Given the description of an element on the screen output the (x, y) to click on. 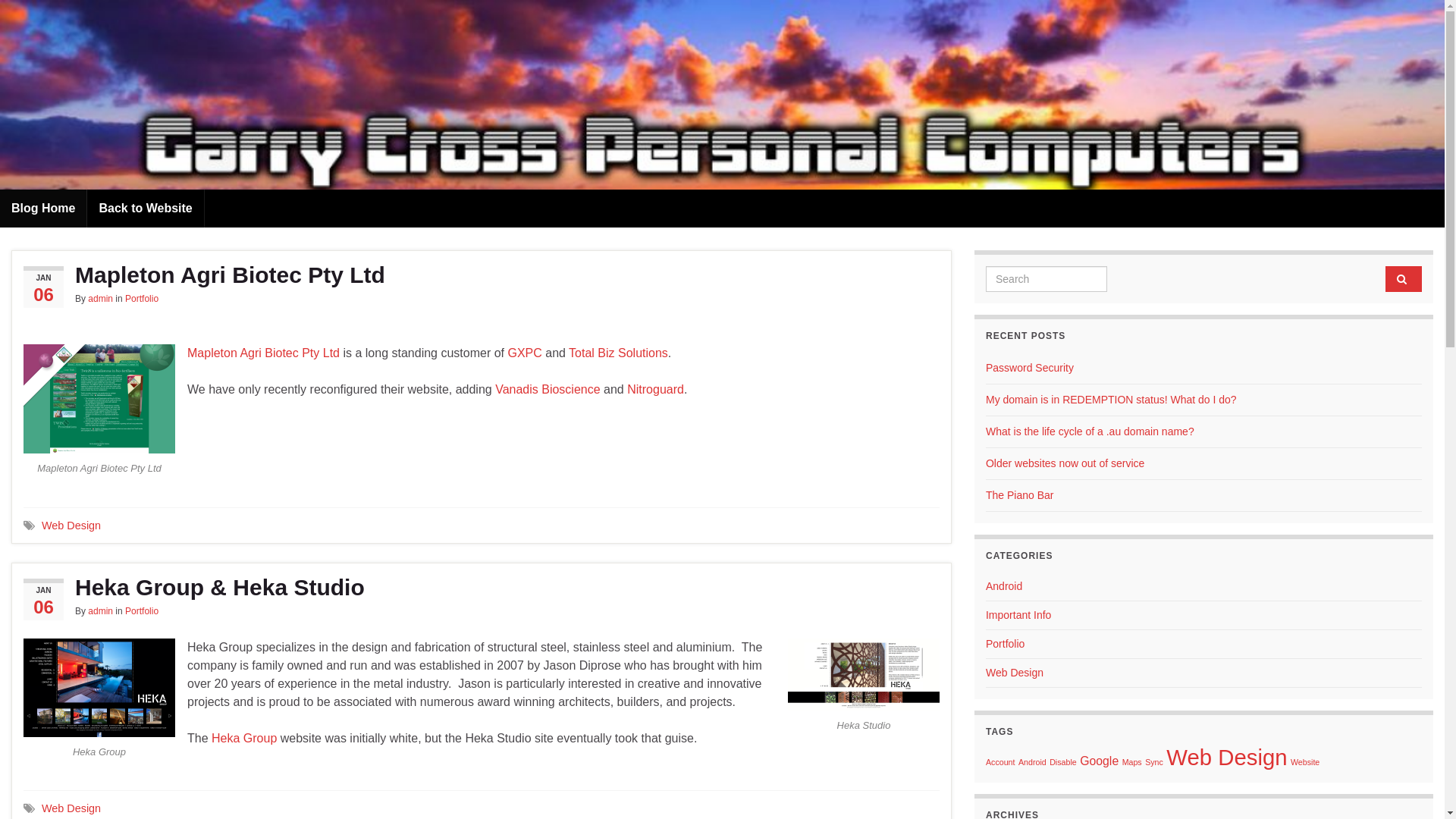
The Piano Bar Element type: text (1019, 495)
Android Element type: text (1003, 586)
Nitroguard Element type: text (655, 388)
Android Element type: text (1032, 761)
My domain is in REDEMPTION status! What do I do? Element type: text (1110, 399)
Tags Element type: hover (28, 525)
Portfolio Element type: text (141, 298)
Disable Element type: text (1062, 761)
Total Biz Solutions Element type: text (618, 352)
Back to Website Element type: text (145, 208)
Tags Element type: hover (28, 808)
Older websites now out of service Element type: text (1064, 463)
Web Design Element type: text (70, 808)
Heka Group Element type: text (243, 737)
Website Element type: text (1304, 761)
Password Security Element type: text (1029, 367)
Portfolio Element type: text (141, 610)
Web Design Element type: text (1014, 672)
Web Design Element type: text (70, 524)
admin Element type: text (99, 298)
GXPC Blog Element type: hover (722, 154)
Mapleton Agri Biotec Pty Ltd Element type: text (481, 275)
admin Element type: text (99, 610)
Sync Element type: text (1154, 761)
Google Element type: text (1098, 760)
Account Element type: text (1000, 761)
Important Info Element type: text (1018, 614)
Maps Element type: text (1132, 761)
Vanadis Bioscience Element type: text (547, 388)
Web Design Element type: text (1226, 756)
GXPC Element type: text (524, 352)
Portfolio Element type: text (1004, 643)
What is the life cycle of a .au domain name? Element type: text (1089, 431)
Mapleton Agri Biotec Pty Ltd Element type: text (263, 352)
Heka Group & Heka Studio Element type: text (481, 587)
Blog Home Element type: text (43, 208)
